Given the description of an element on the screen output the (x, y) to click on. 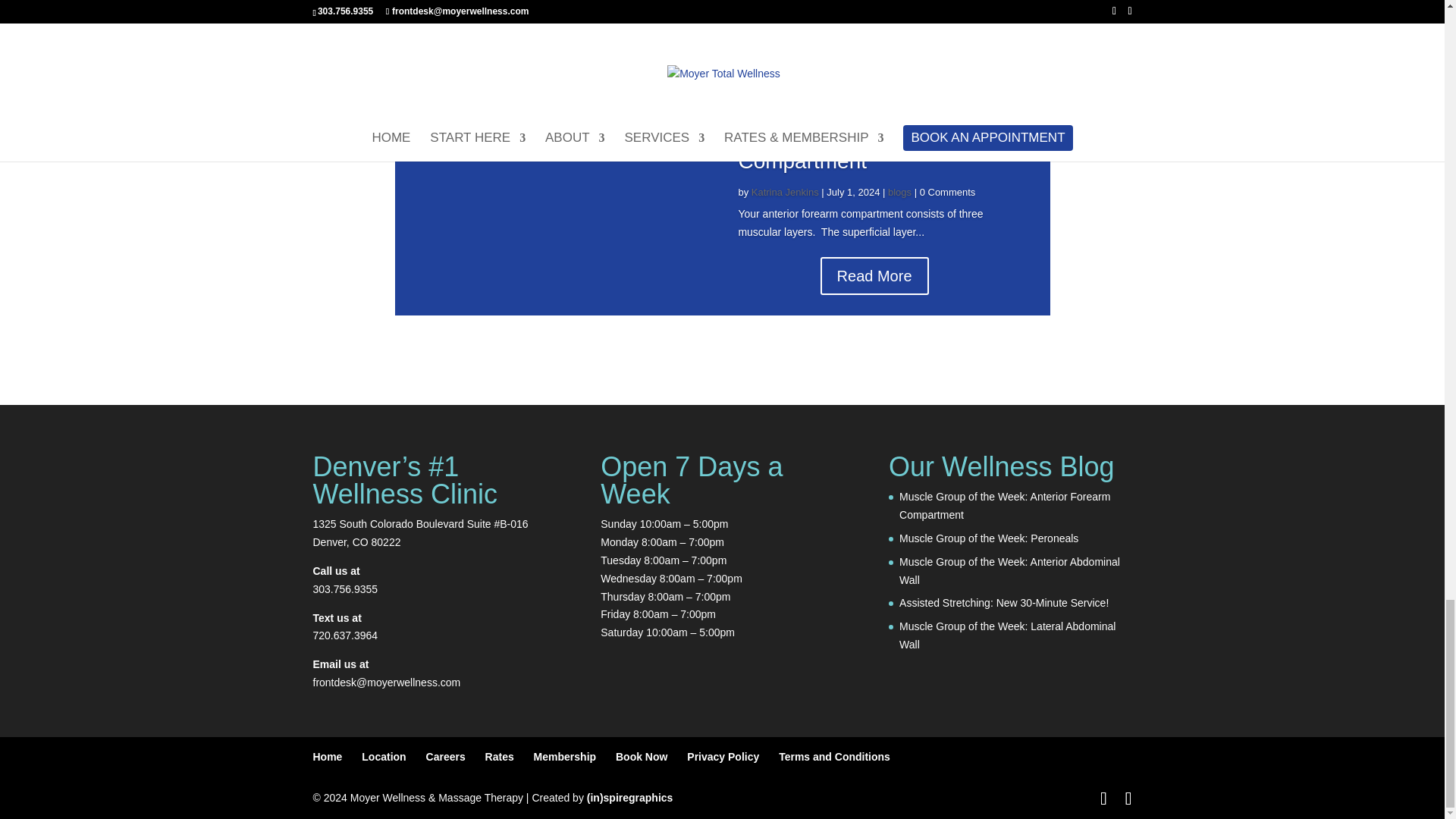
Posts by Katrina Jenkins (784, 192)
